Given the description of an element on the screen output the (x, y) to click on. 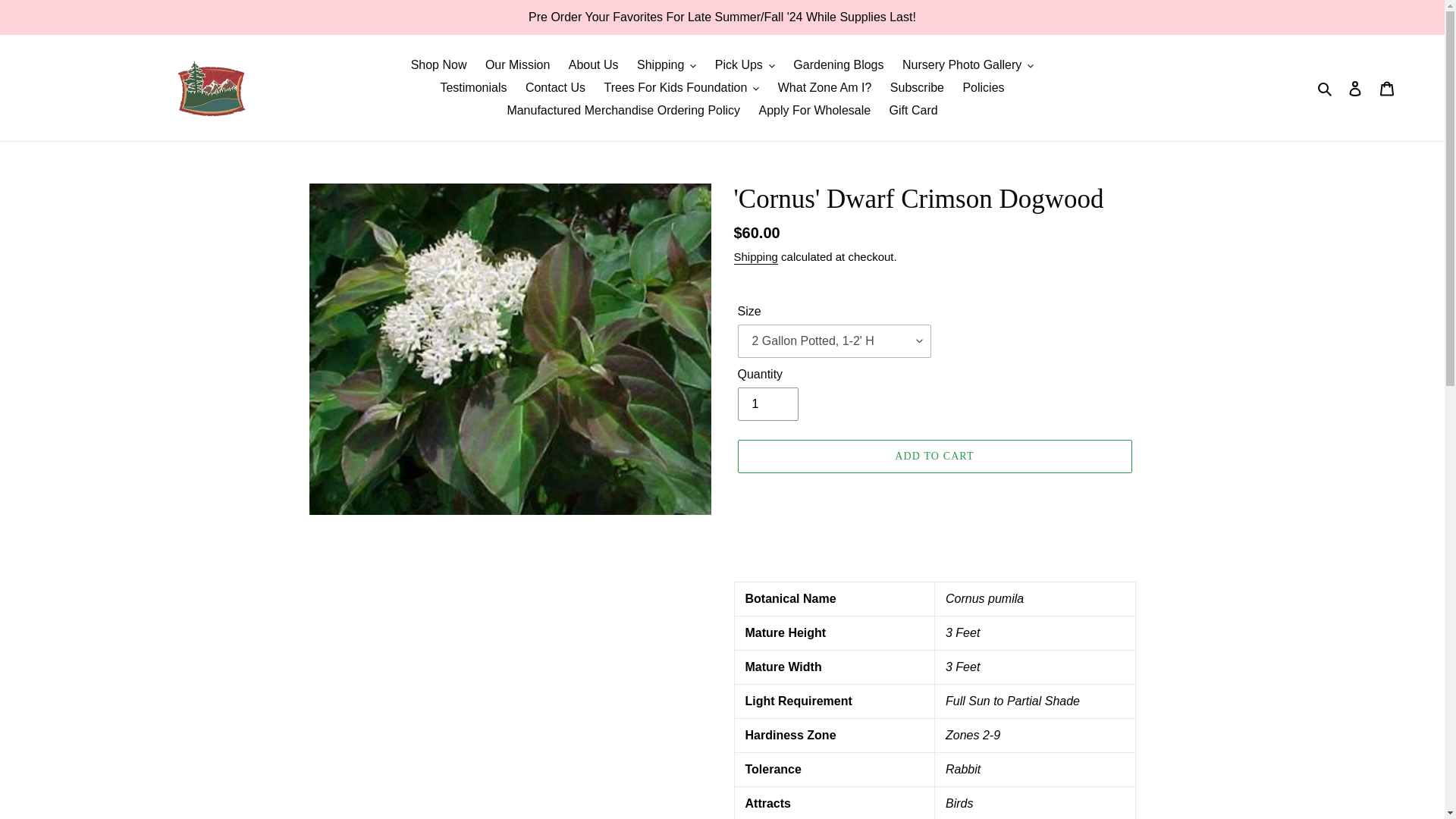
Pick Ups (745, 65)
Policies (983, 87)
Nursery Photo Gallery (968, 65)
Contact Us (555, 87)
Cart (1387, 87)
Search (1326, 87)
Shipping (665, 65)
Gift Card (913, 110)
What Zone Am I? (824, 87)
About Us (593, 65)
